Given the description of an element on the screen output the (x, y) to click on. 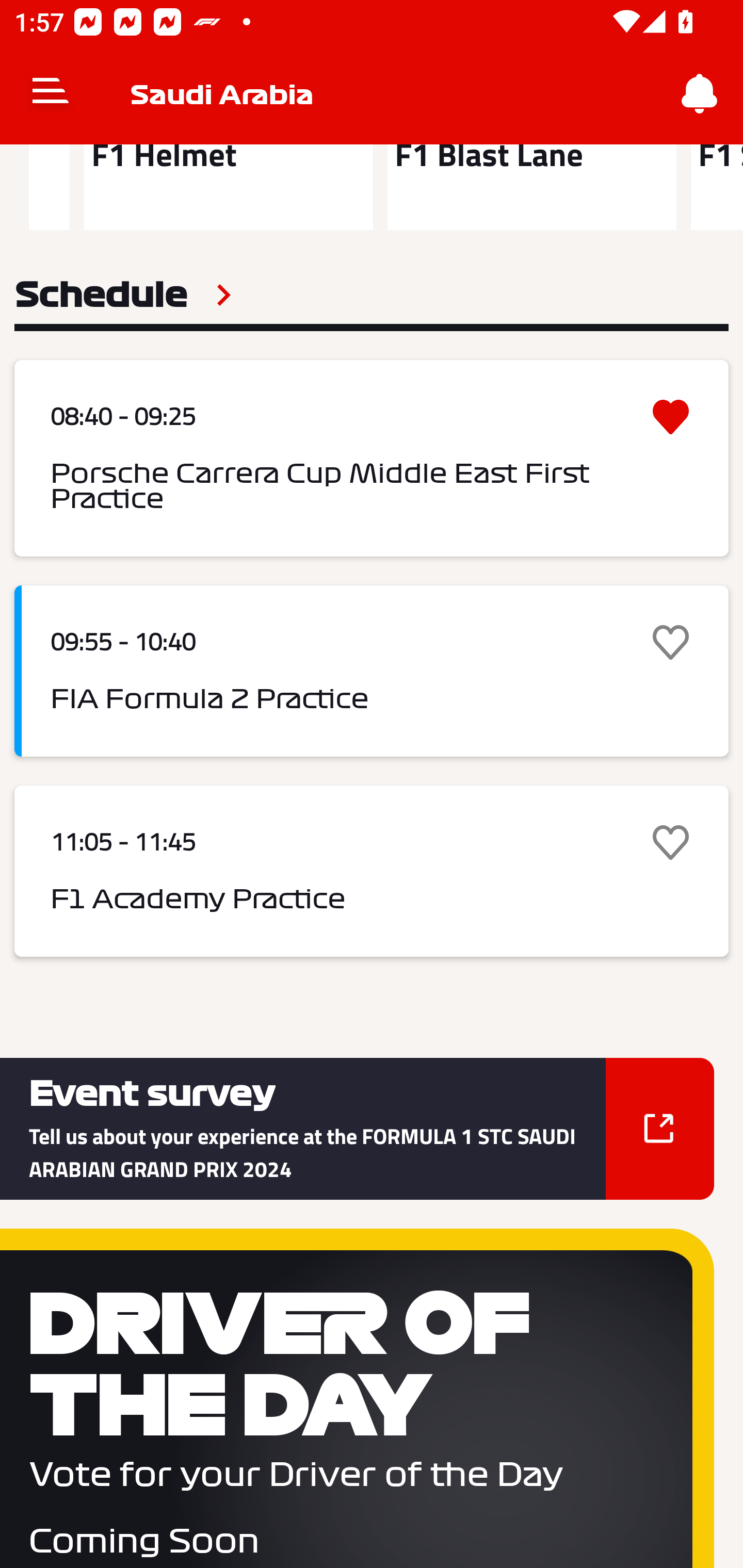
Navigate up (50, 93)
Notifications (699, 93)
F1 Helmet (227, 187)
F1 Blast Lane (531, 187)
Schedule (122, 294)
09:55 - 10:40 FIA Formula 2 Practice (371, 670)
11:05 - 11:45 F1 Academy Practice (371, 870)
